Given the description of an element on the screen output the (x, y) to click on. 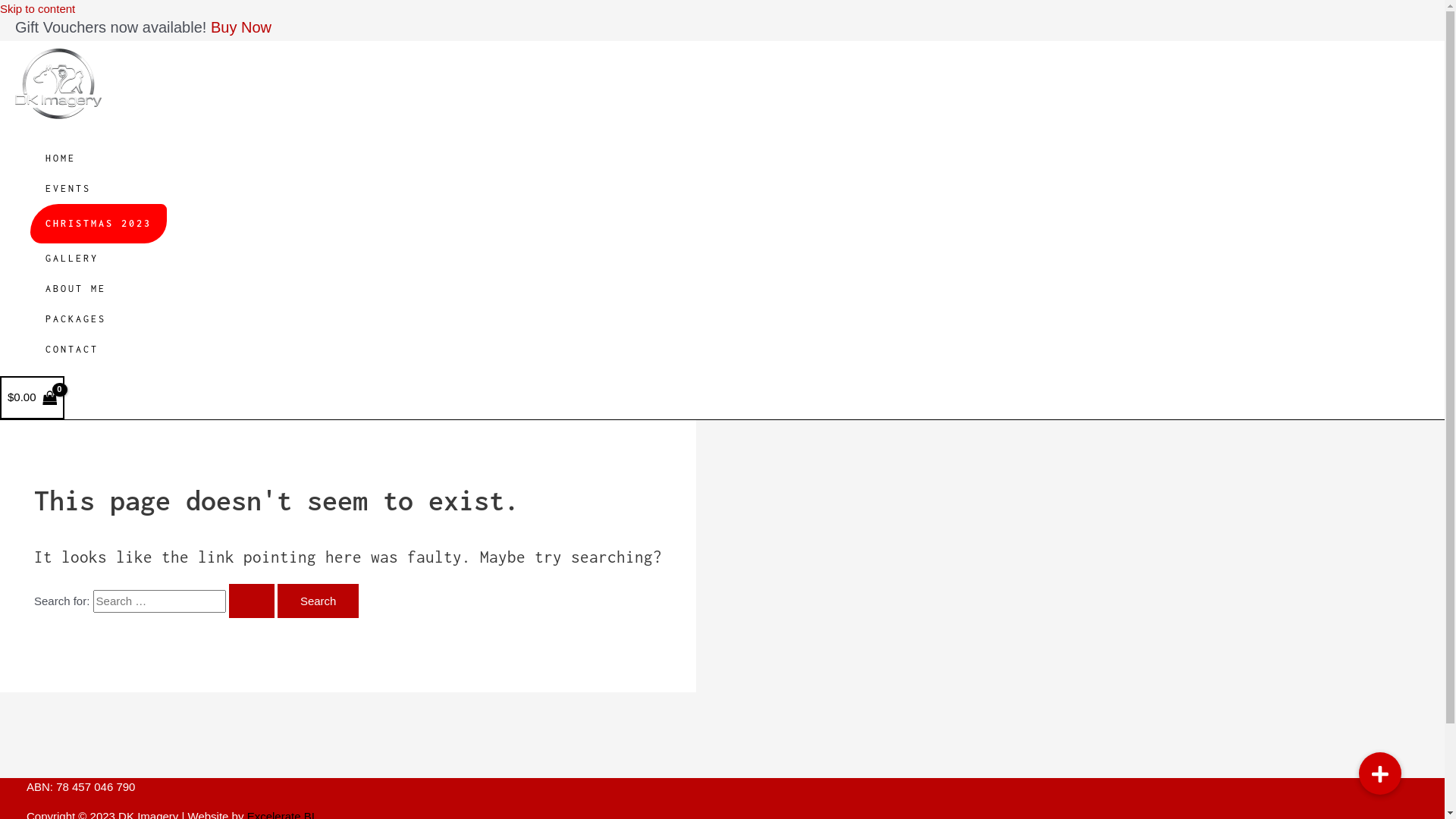
GALLERY Element type: text (98, 258)
$0.00 Element type: text (32, 397)
CHRISTMAS 2023 Element type: text (98, 223)
ABOUT ME Element type: text (98, 288)
EVENTS Element type: text (98, 188)
HOME Element type: text (98, 158)
Buy Now Element type: text (240, 26)
Search Element type: text (318, 600)
Skip to content Element type: text (37, 8)
PACKAGES Element type: text (98, 319)
CONTACT Element type: text (98, 349)
